Given the description of an element on the screen output the (x, y) to click on. 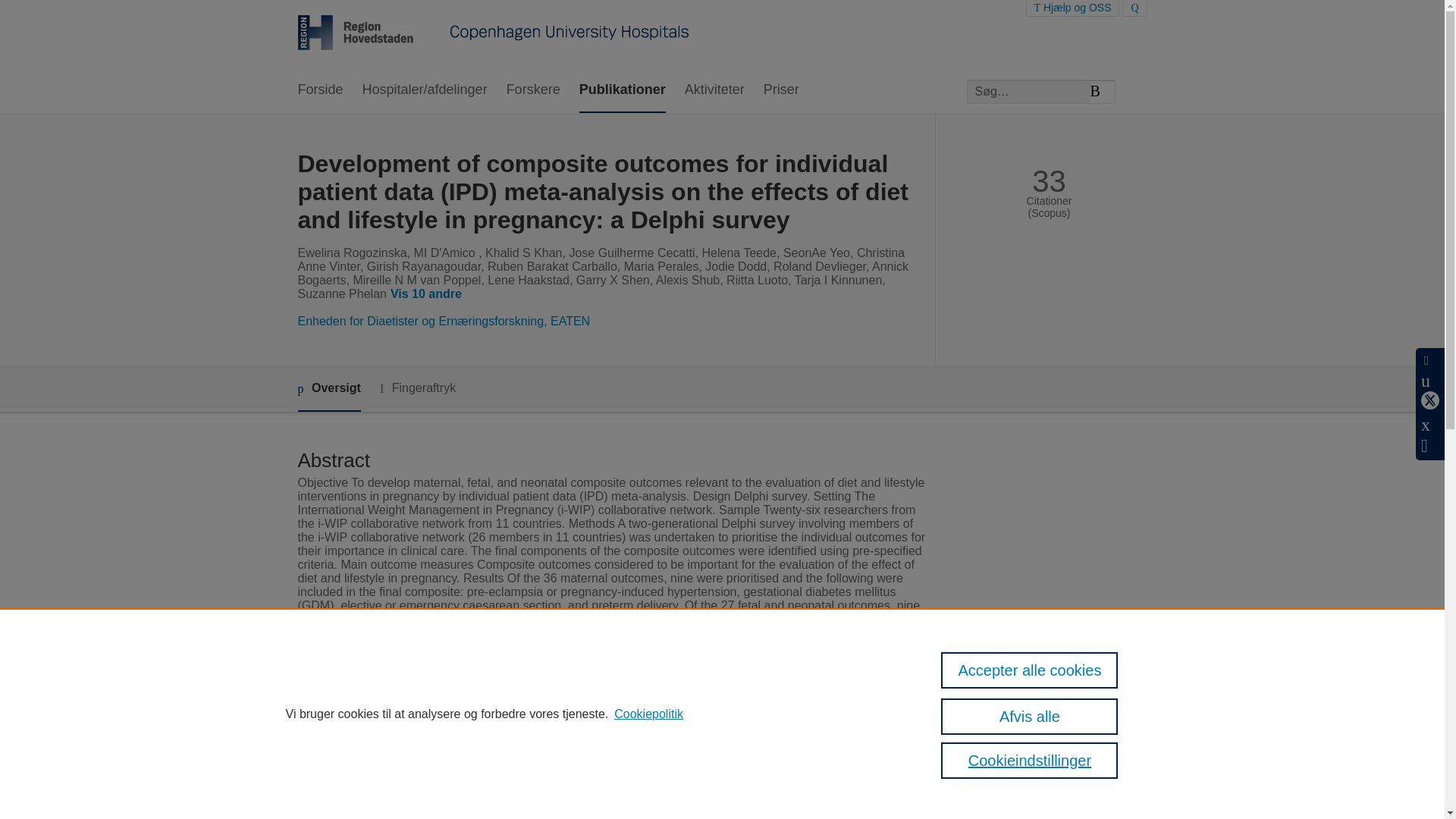
Oversigt (328, 388)
BJOG: An International Journal of Obstetrics and Gynaecology (671, 757)
Vis 10 andre (428, 294)
Aktiviteter (714, 90)
Publikationer (622, 90)
Fingeraftryk (417, 388)
Region Hovedstadens forskningsportal Forside (492, 34)
Forskere (533, 90)
Forside (319, 90)
